Given the description of an element on the screen output the (x, y) to click on. 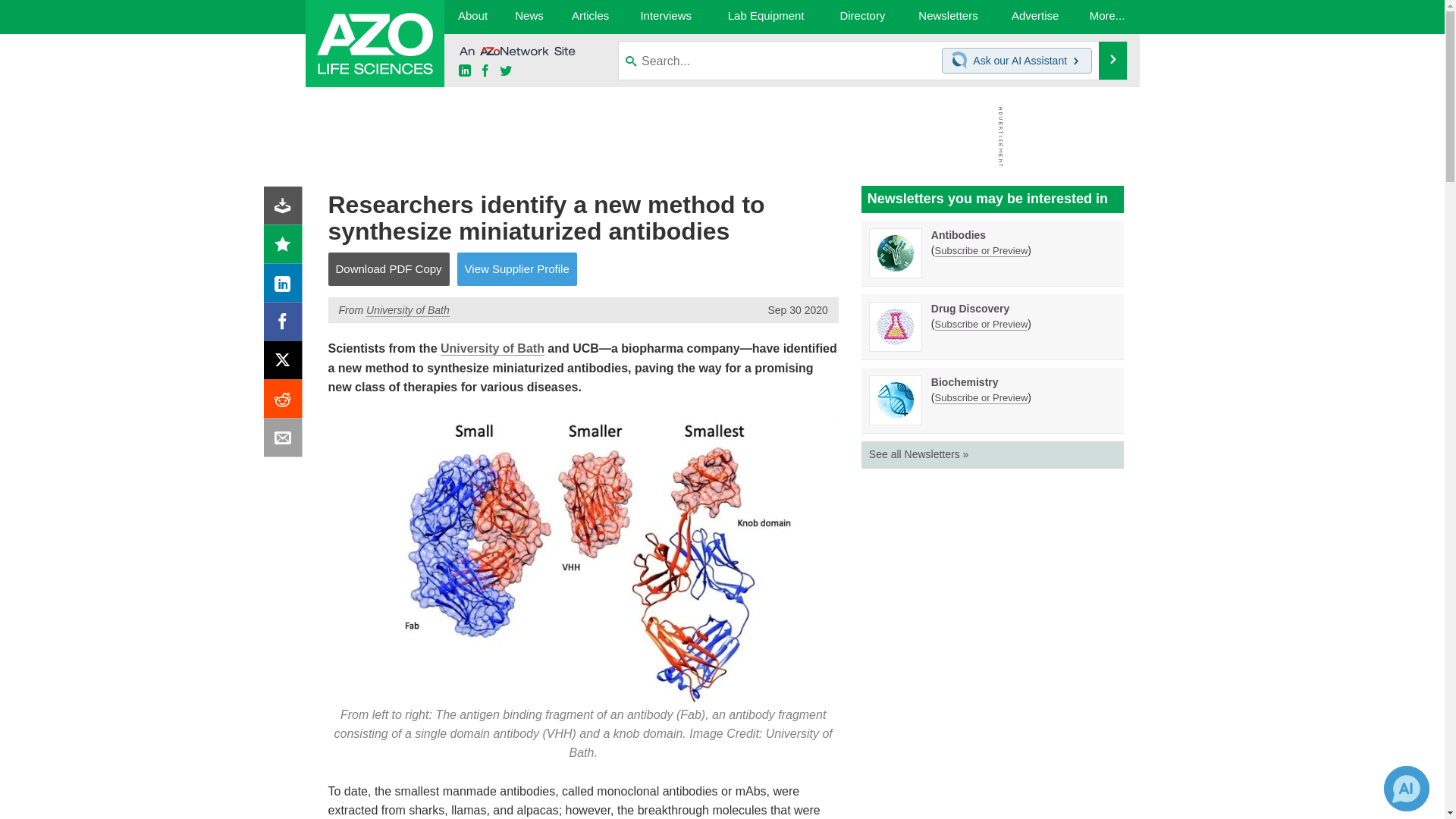
LinkedIn (285, 286)
News (528, 17)
X (285, 363)
Reddit (285, 402)
Download PDF copy (285, 208)
Advertise (1035, 17)
Facebook (285, 324)
Newsletters (948, 17)
About (472, 17)
More... (1107, 17)
Lab Equipment (765, 17)
Interviews (665, 17)
Email (285, 441)
